Given the description of an element on the screen output the (x, y) to click on. 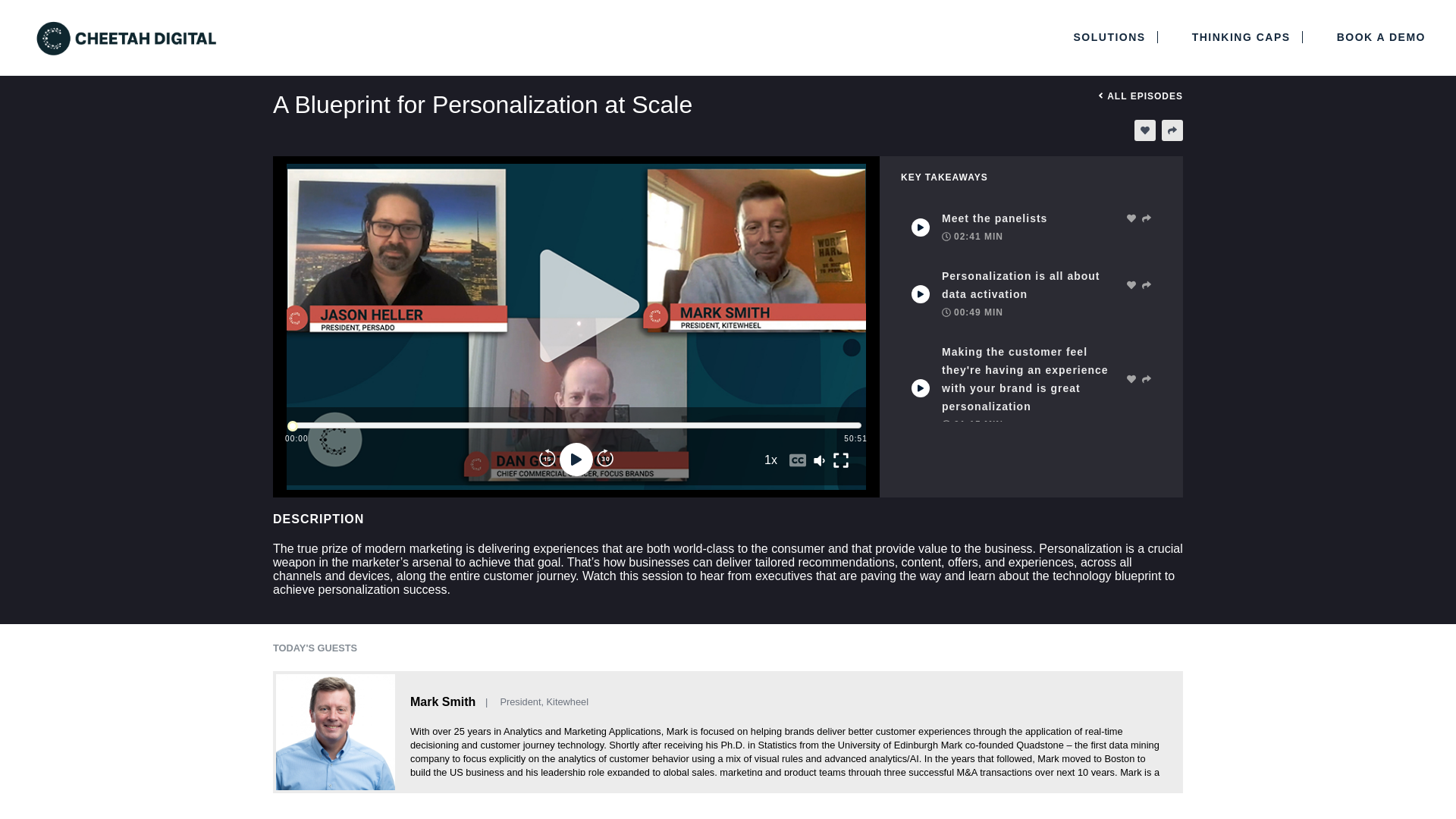
ALL EPISODES (1138, 95)
BOOK A DEMO (1374, 36)
THINKING CAPS (1241, 36)
SOLUTIONS (1109, 36)
Thinking Caps (1241, 36)
Marigold (373, 36)
Solutions (1109, 36)
Book A Demo (1374, 36)
